Given the description of an element on the screen output the (x, y) to click on. 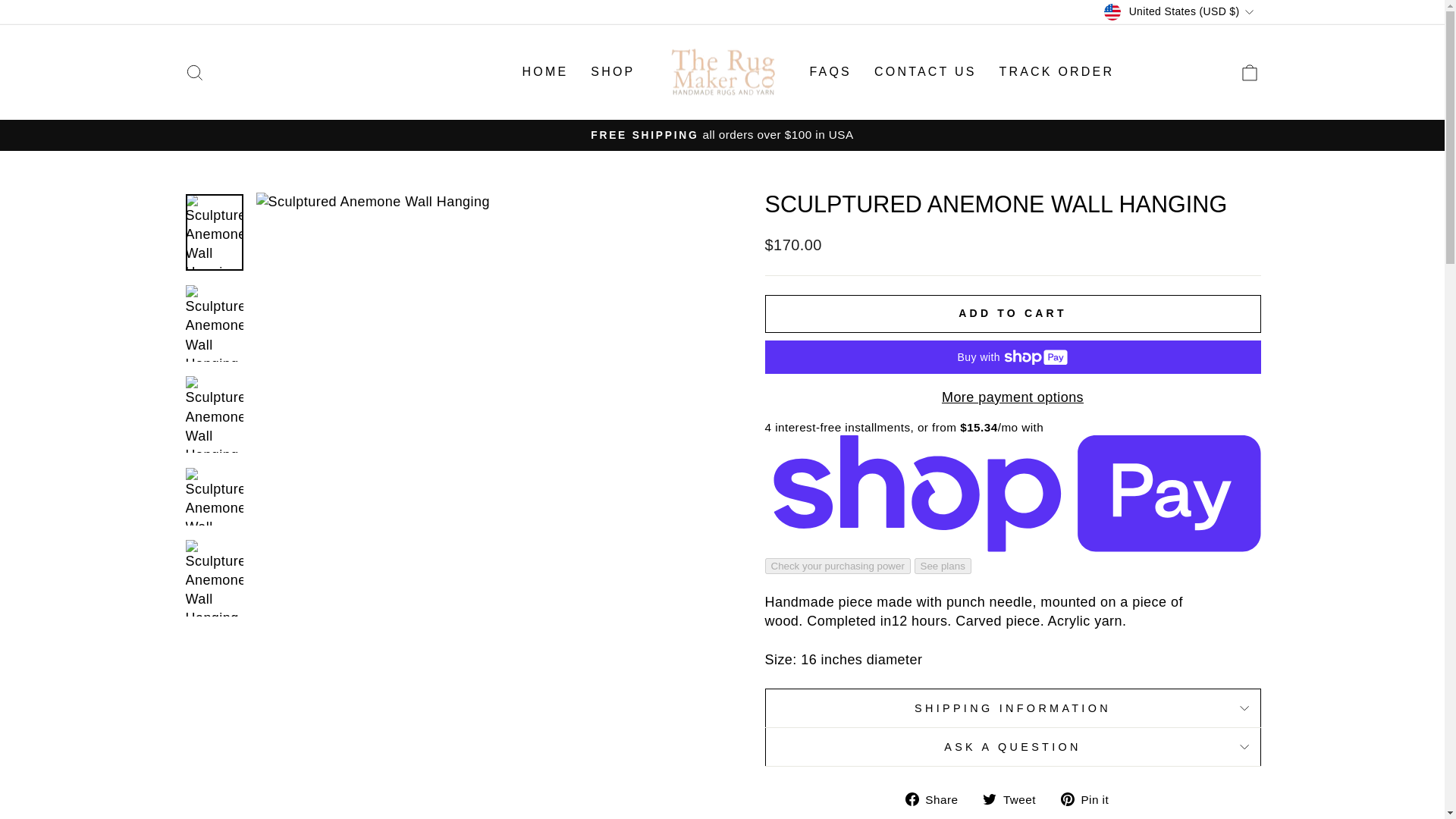
Share on Facebook (937, 798)
Pin on Pinterest (1090, 798)
Tweet on Twitter (1014, 798)
